Given the description of an element on the screen output the (x, y) to click on. 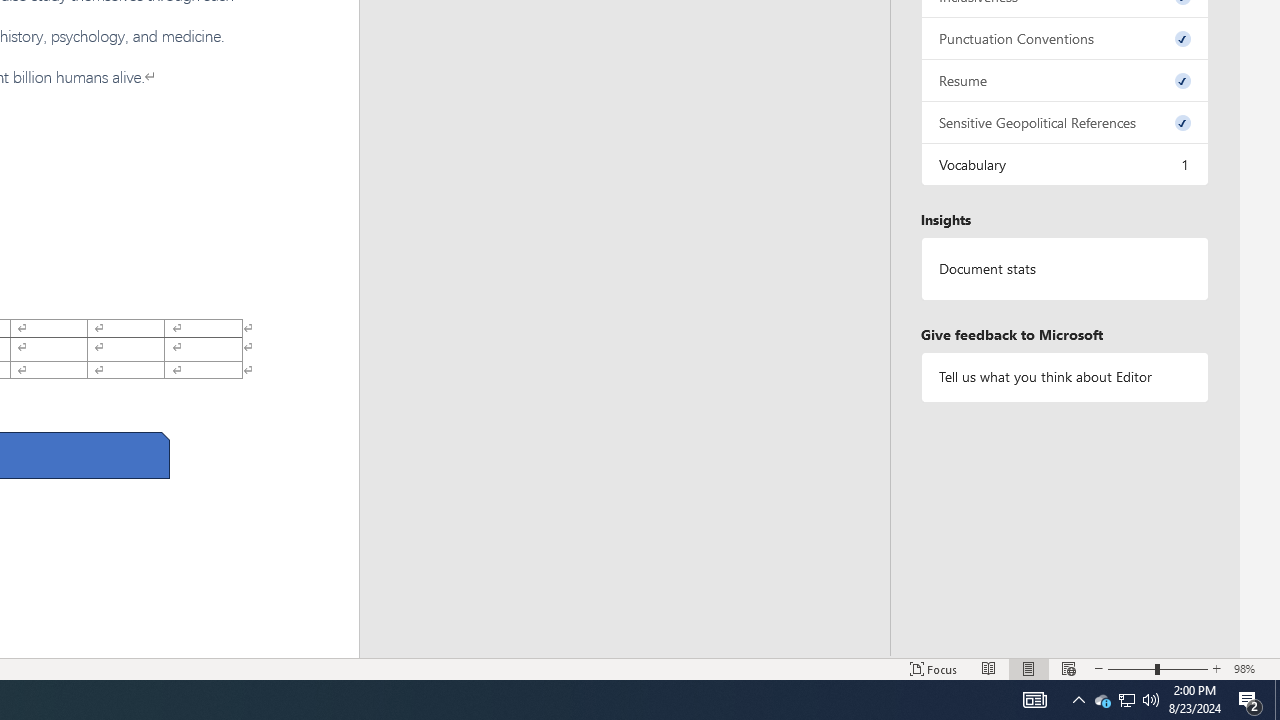
Zoom In (1217, 668)
Print Layout (1028, 668)
Resume, 0 issues. Press space or enter to review items. (1064, 79)
Read Mode (988, 668)
Tell us what you think about Editor (1064, 376)
Zoom Out (1131, 668)
Zoom (1158, 668)
Document statistics (1064, 269)
Web Layout (1069, 668)
Vocabulary, 1 issue. Press space or enter to review items. (1064, 164)
Focus  (934, 668)
